Given the description of an element on the screen output the (x, y) to click on. 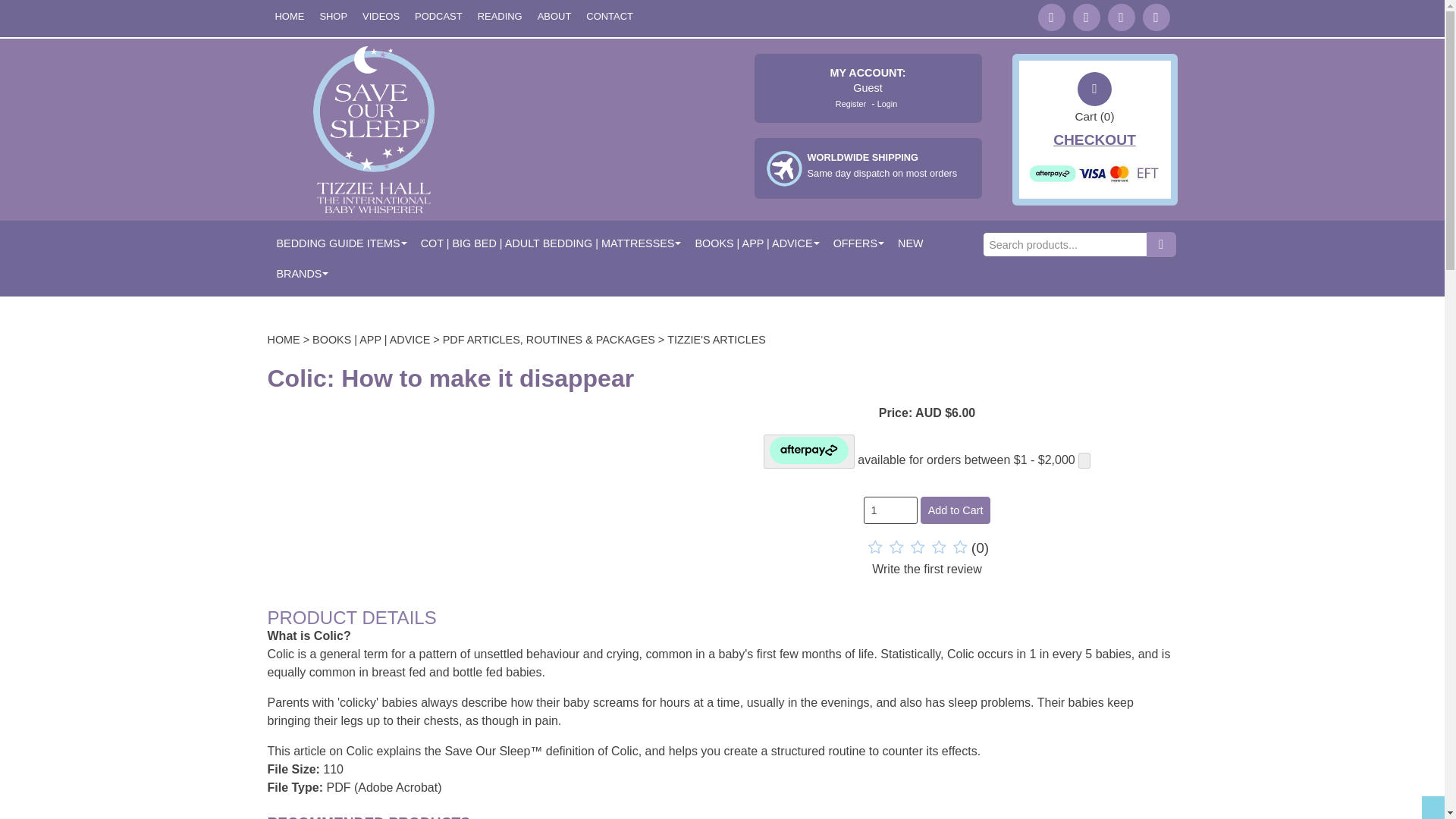
ABOUT (554, 16)
HOME (288, 16)
BEDDING GUIDE ITEMS (338, 243)
Login (888, 103)
YouTube (1120, 17)
facebook (1085, 17)
Instagram (1155, 17)
READING (499, 16)
 out of 5 average rating from  reviews (926, 558)
CONTACT (609, 16)
Register (882, 164)
VIDEOS (852, 103)
search (381, 16)
Add to Cart (1161, 244)
